Given the description of an element on the screen output the (x, y) to click on. 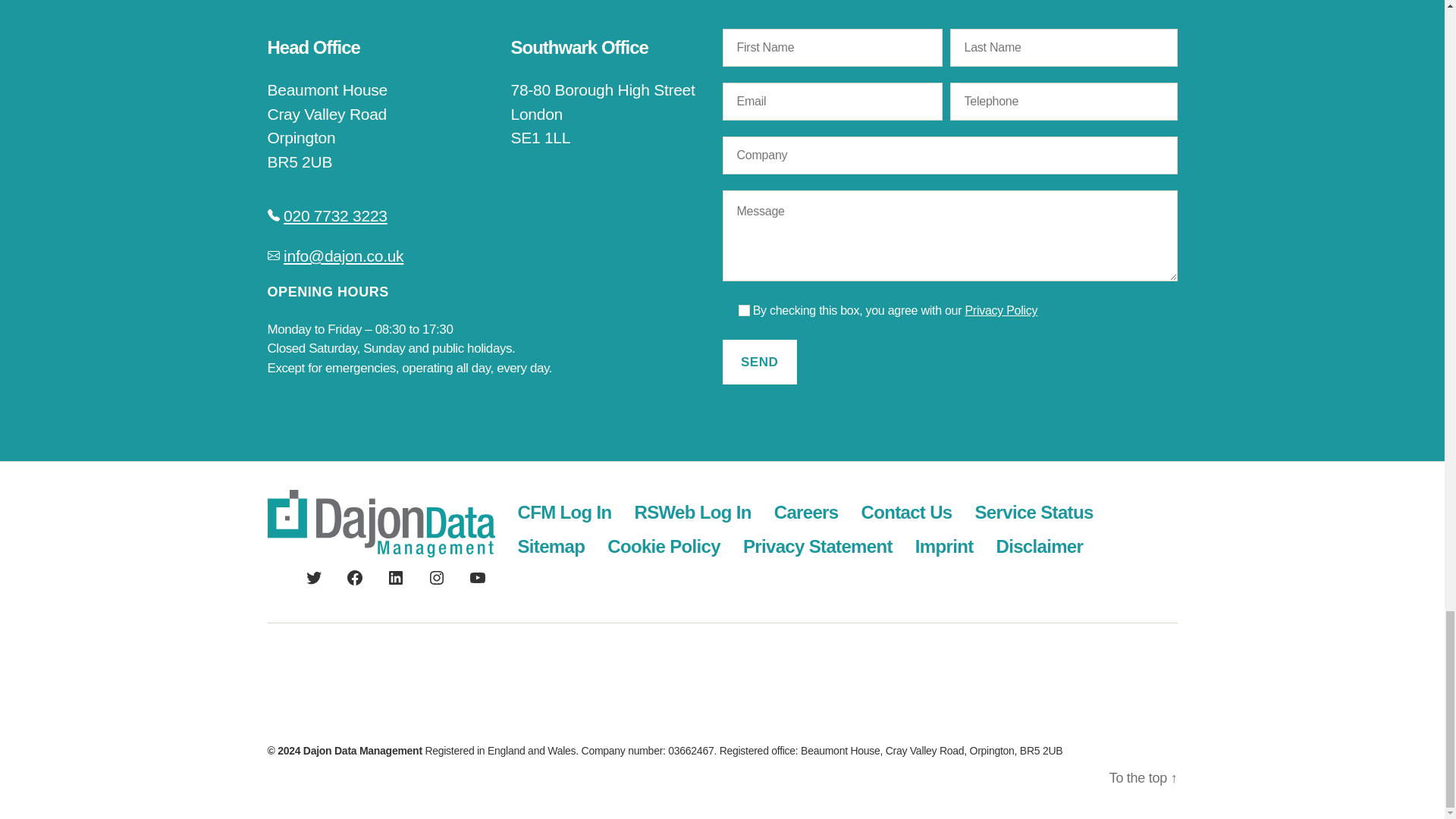
1 (743, 310)
Send (759, 361)
